Given the description of an element on the screen output the (x, y) to click on. 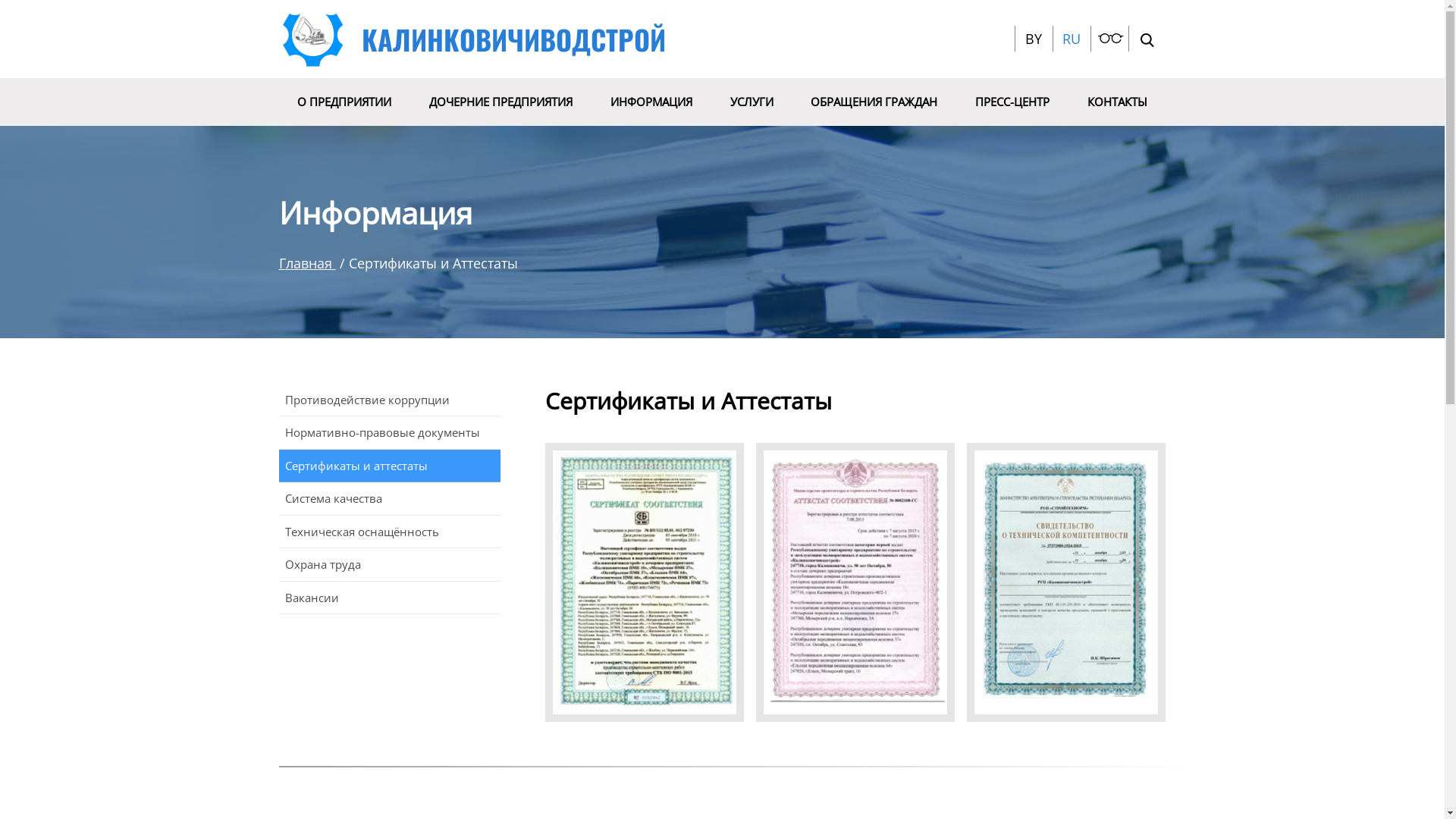
RU Element type: text (1070, 39)
BY Element type: text (1033, 39)
